Given the description of an element on the screen output the (x, y) to click on. 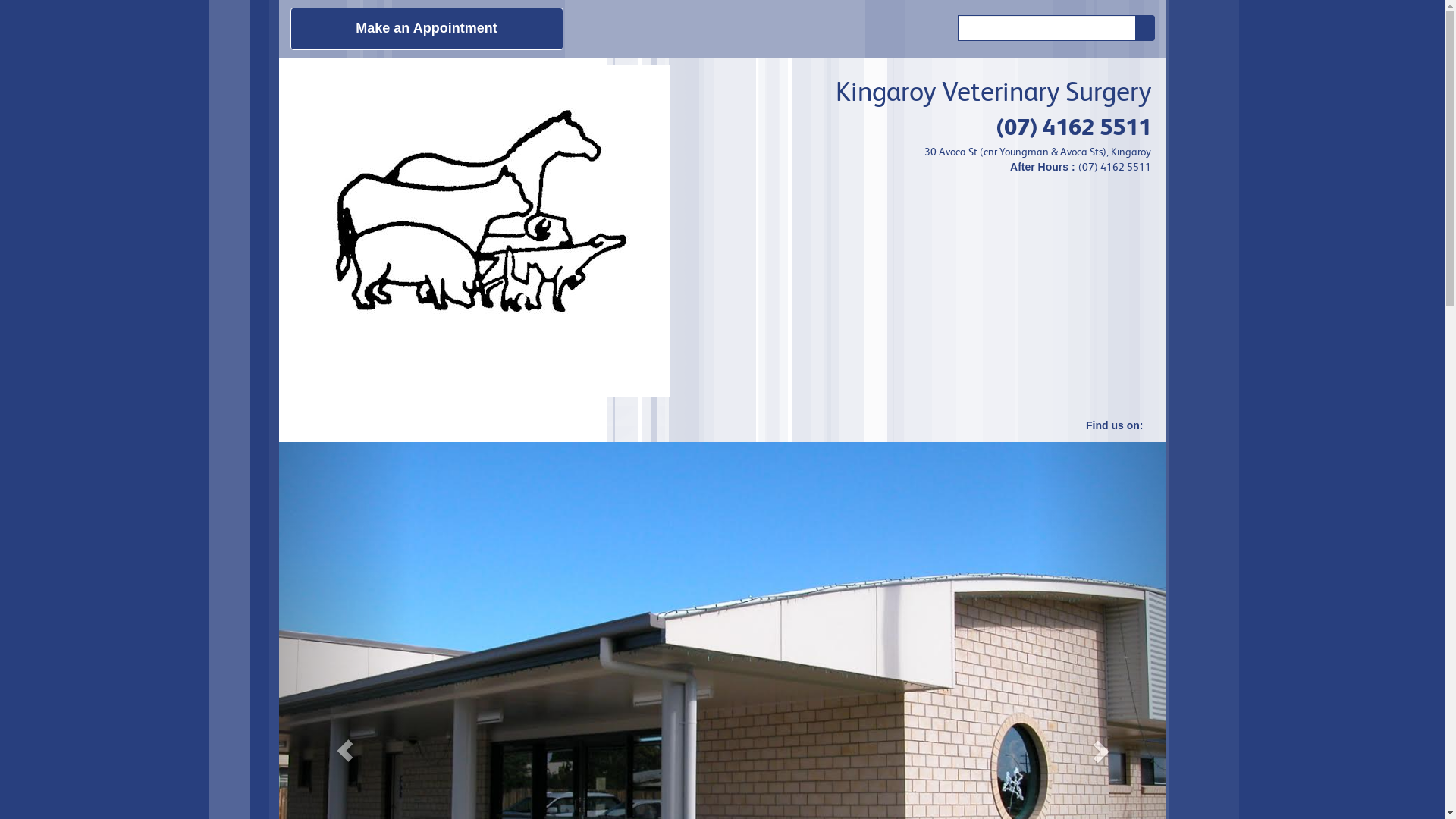
(07) 4162 5511 Element type: text (1073, 126)
Make an Appointment Element type: text (425, 28)
(07) 4162 5511 Element type: text (1114, 166)
